Given the description of an element on the screen output the (x, y) to click on. 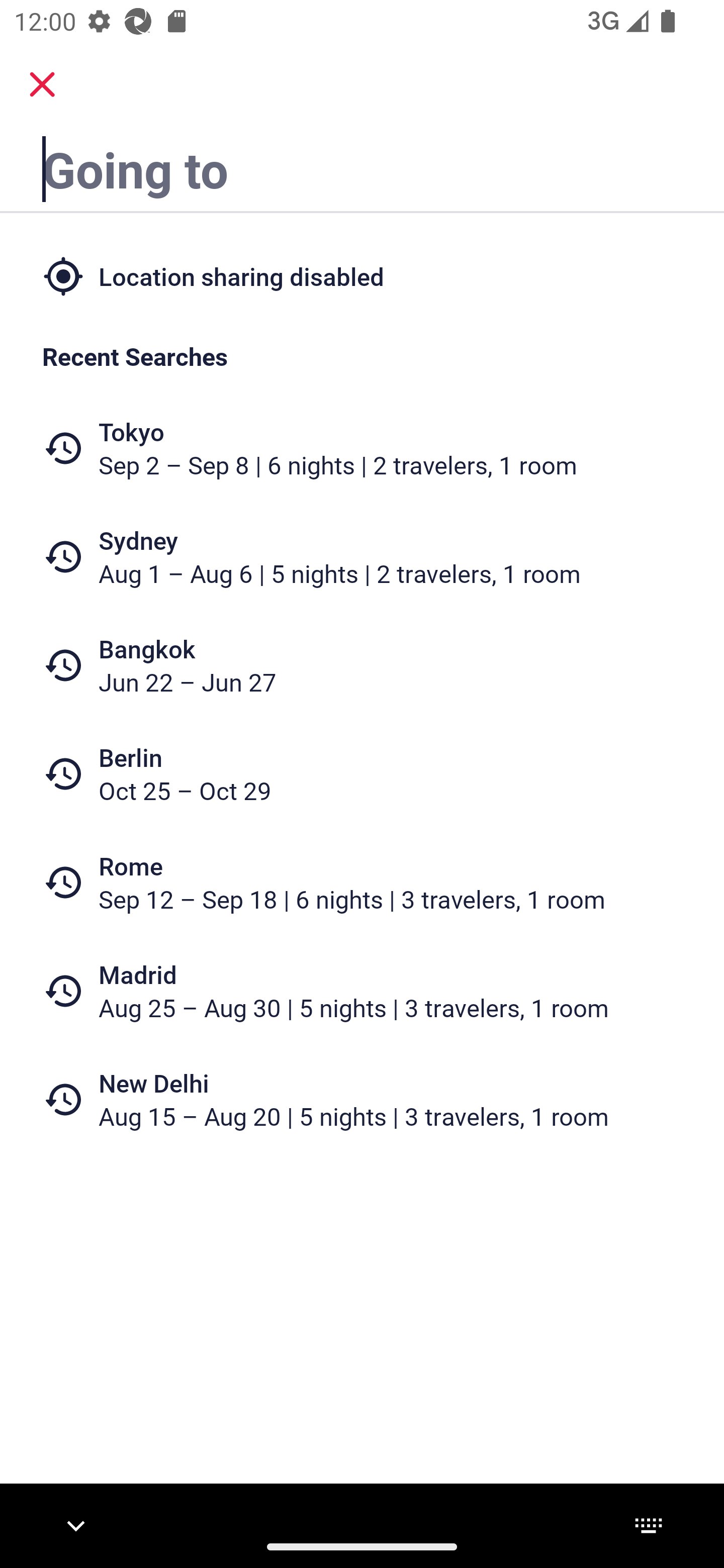
close. (42, 84)
Location sharing disabled (362, 275)
Bangkok Jun 22 – Jun 27 (362, 665)
Berlin Oct 25 – Oct 29 (362, 773)
